Given the description of an element on the screen output the (x, y) to click on. 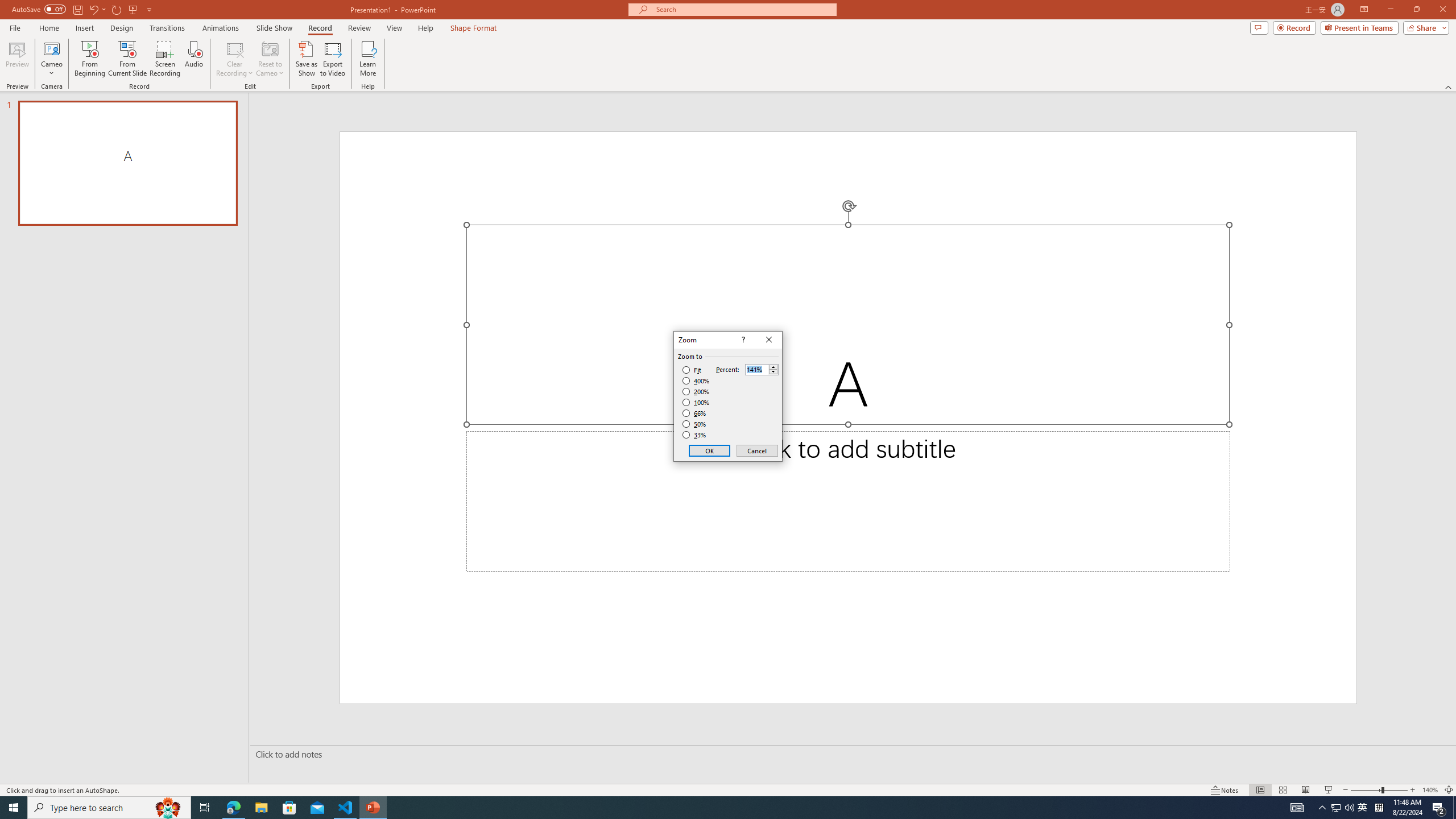
66% (694, 412)
